Given the description of an element on the screen output the (x, y) to click on. 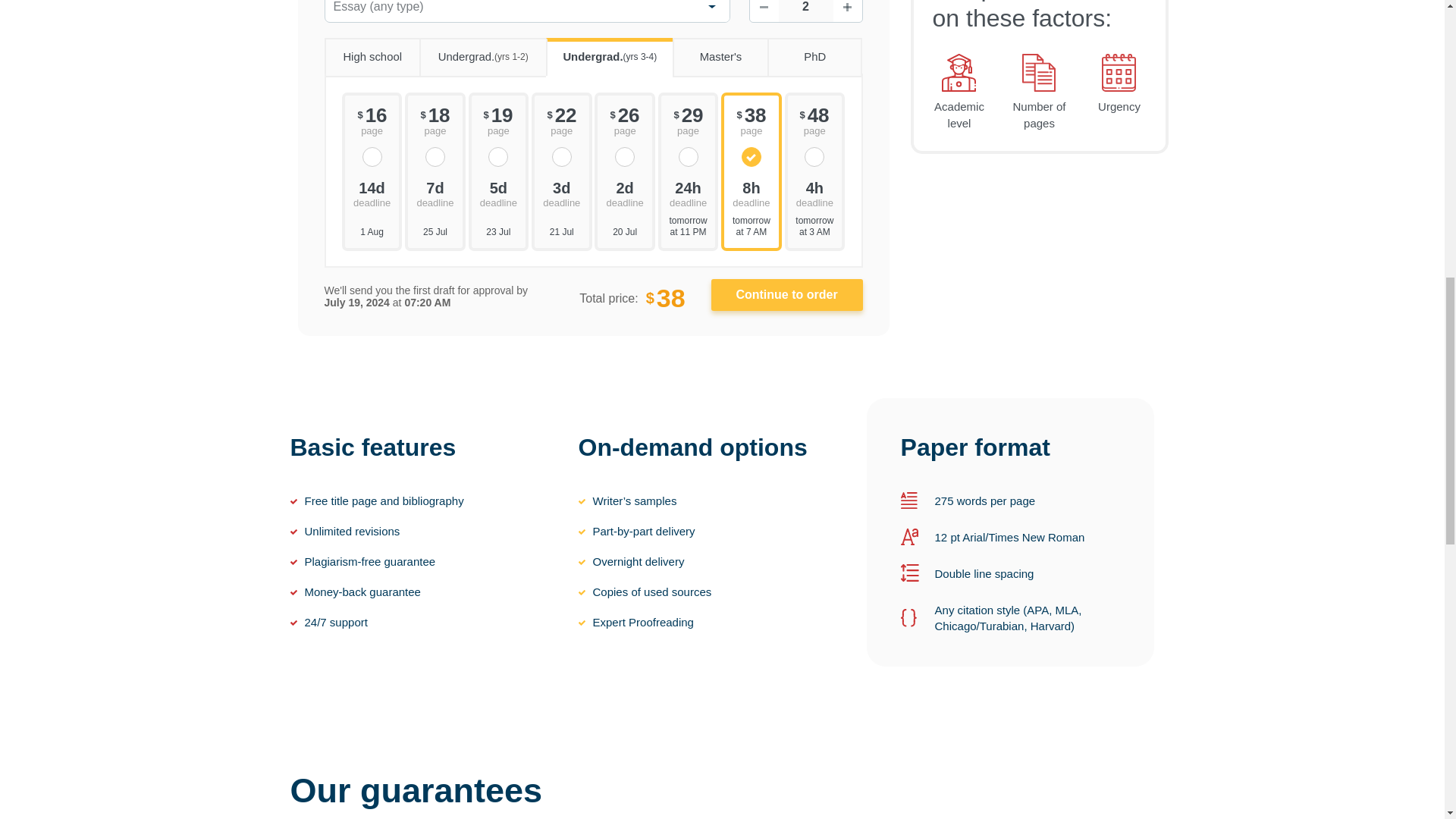
7 days (435, 192)
Continue to order (787, 295)
Continue to Order (787, 295)
14 days (372, 192)
3 days (561, 192)
2 (804, 11)
Increase (846, 10)
Decrease (763, 10)
8 hours (751, 192)
Continue to order (787, 295)
2 days (624, 192)
24 hours (688, 192)
4 hours (815, 192)
5 days (499, 192)
